Given the description of an element on the screen output the (x, y) to click on. 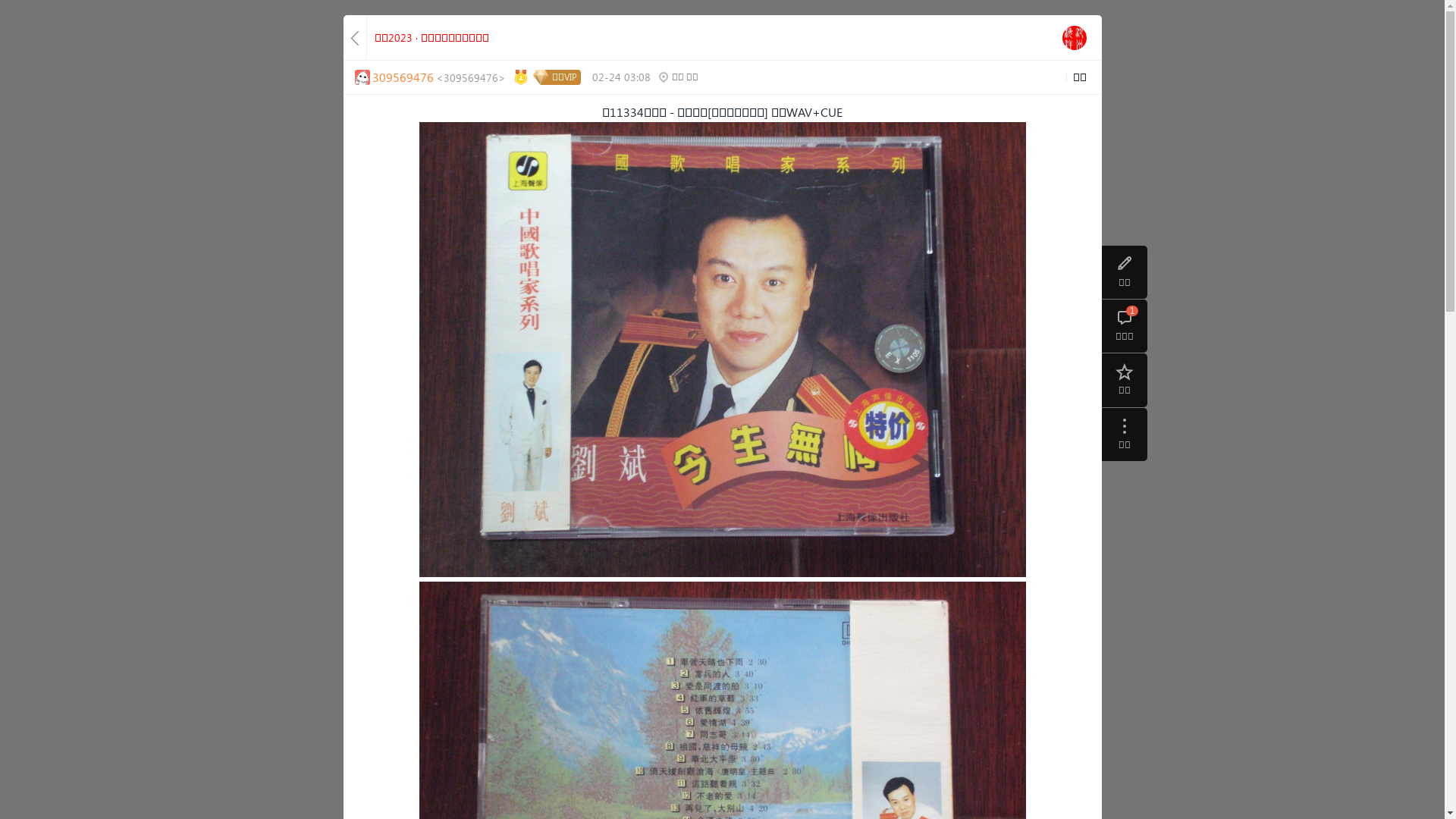
309569476<309569476> Element type: text (429, 77)
